Given the description of an element on the screen output the (x, y) to click on. 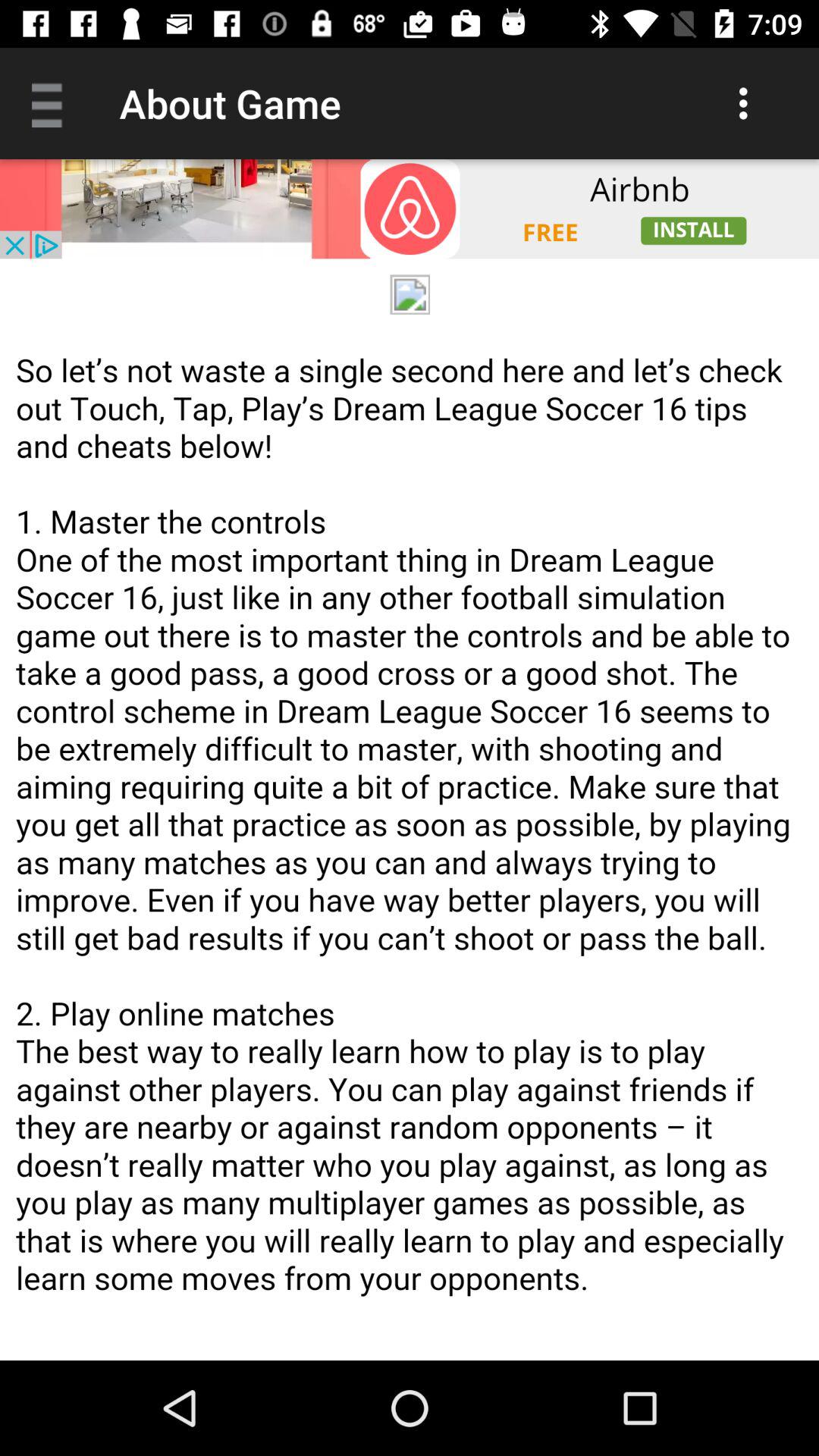
advertisement (409, 208)
